Given the description of an element on the screen output the (x, y) to click on. 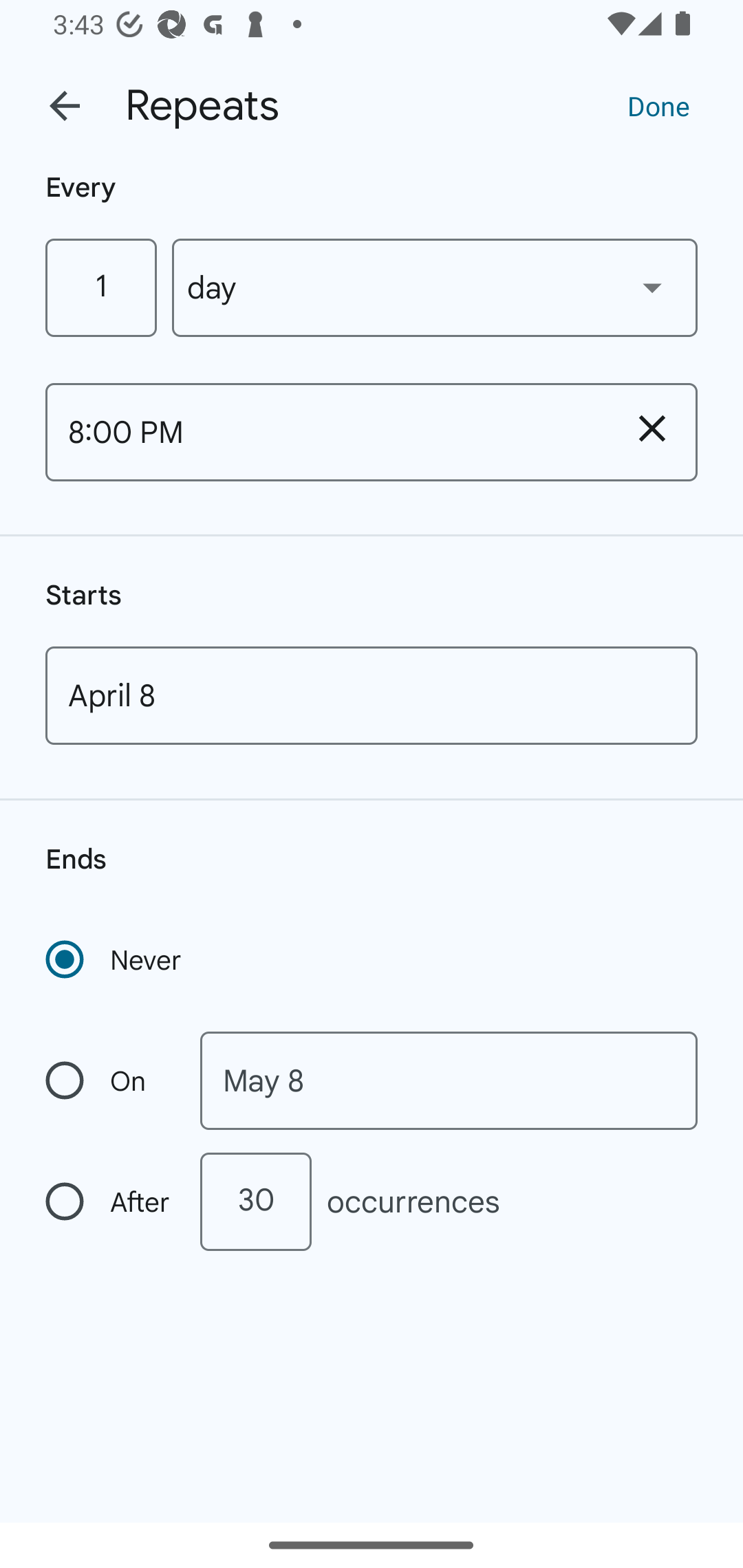
Back (64, 105)
Done (658, 105)
1 (100, 287)
day (434, 287)
Show dropdown menu (652, 286)
8:00 PM (326, 431)
Remove 8:00 PM (652, 427)
April 8 (371, 695)
Never Recurrence never ends (115, 959)
May 8 (448, 1080)
On Recurrence ends on a specific date (109, 1080)
30 (255, 1201)
